Given the description of an element on the screen output the (x, y) to click on. 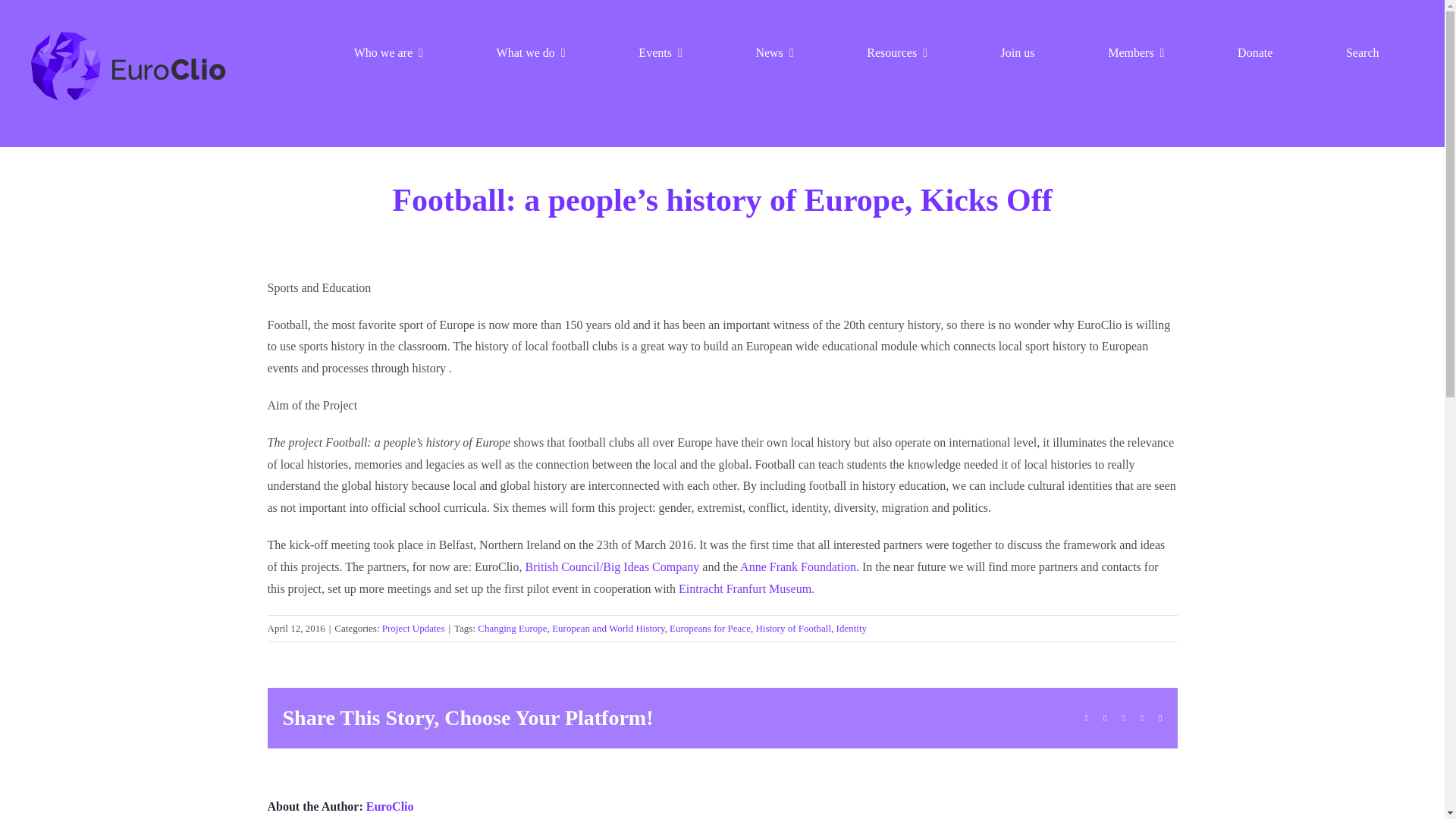
Posts by EuroClio (389, 806)
What we do (531, 52)
Who we are (388, 52)
